Given the description of an element on the screen output the (x, y) to click on. 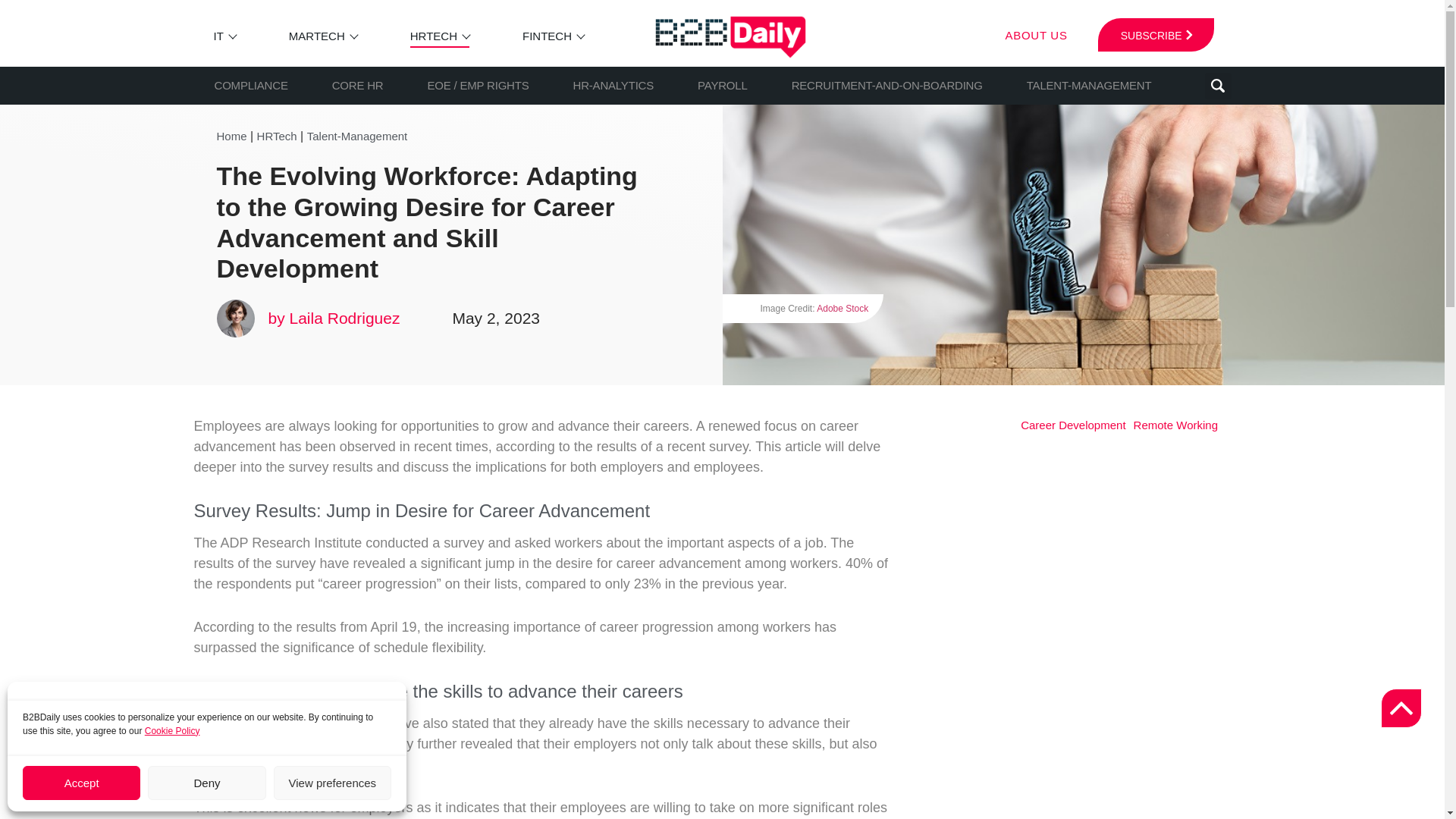
Cookie Policy (172, 730)
Accept (81, 782)
Deny (206, 782)
View preferences (332, 782)
MARTECH (316, 36)
